Given the description of an element on the screen output the (x, y) to click on. 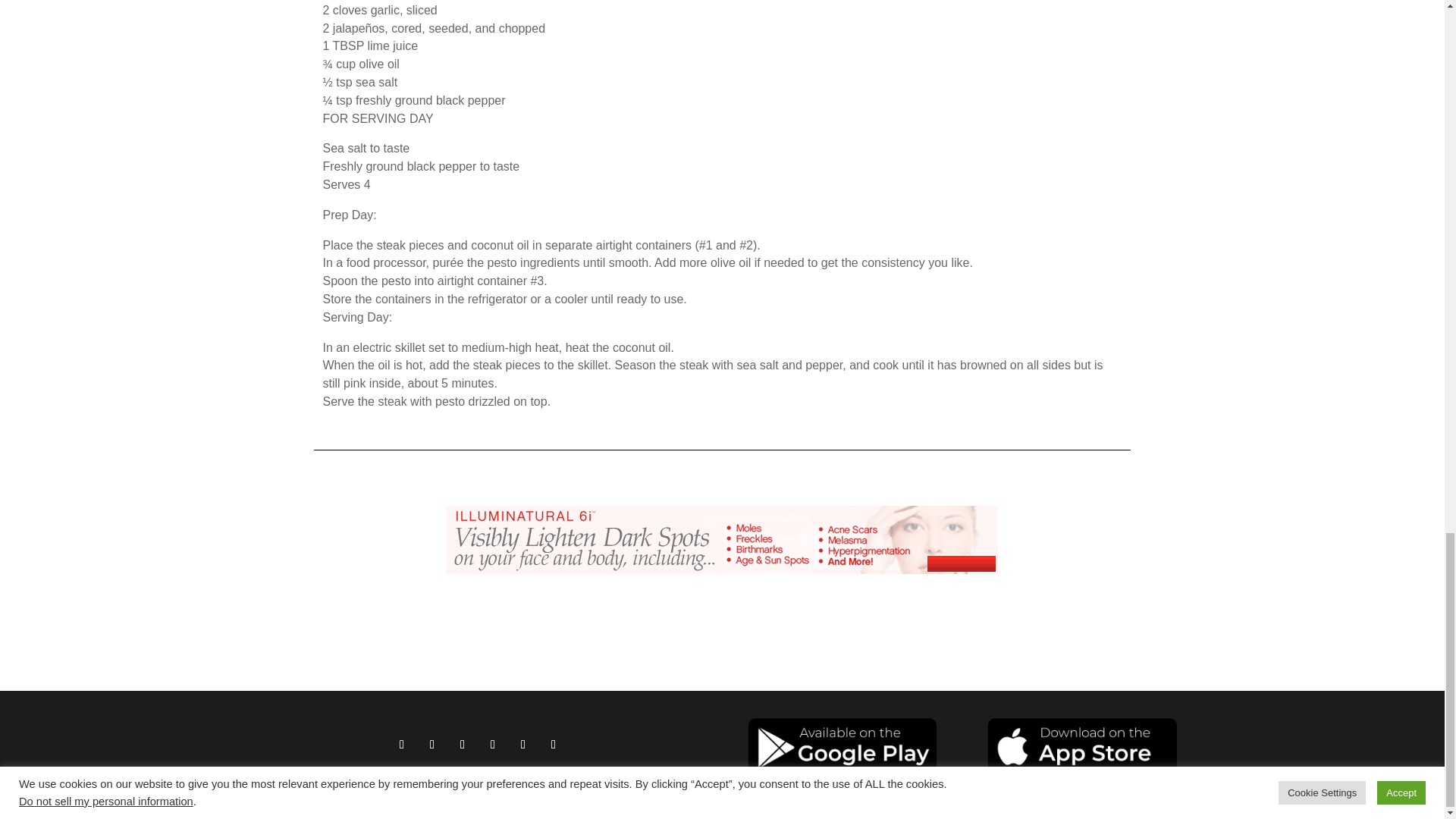
Follow on Instagram (432, 744)
Follow on Medium (492, 744)
Follow on LinkedIn (553, 744)
Follow on Facebook (401, 744)
Follow on X (523, 744)
Follow on Amazon (461, 744)
